Given the description of an element on the screen output the (x, y) to click on. 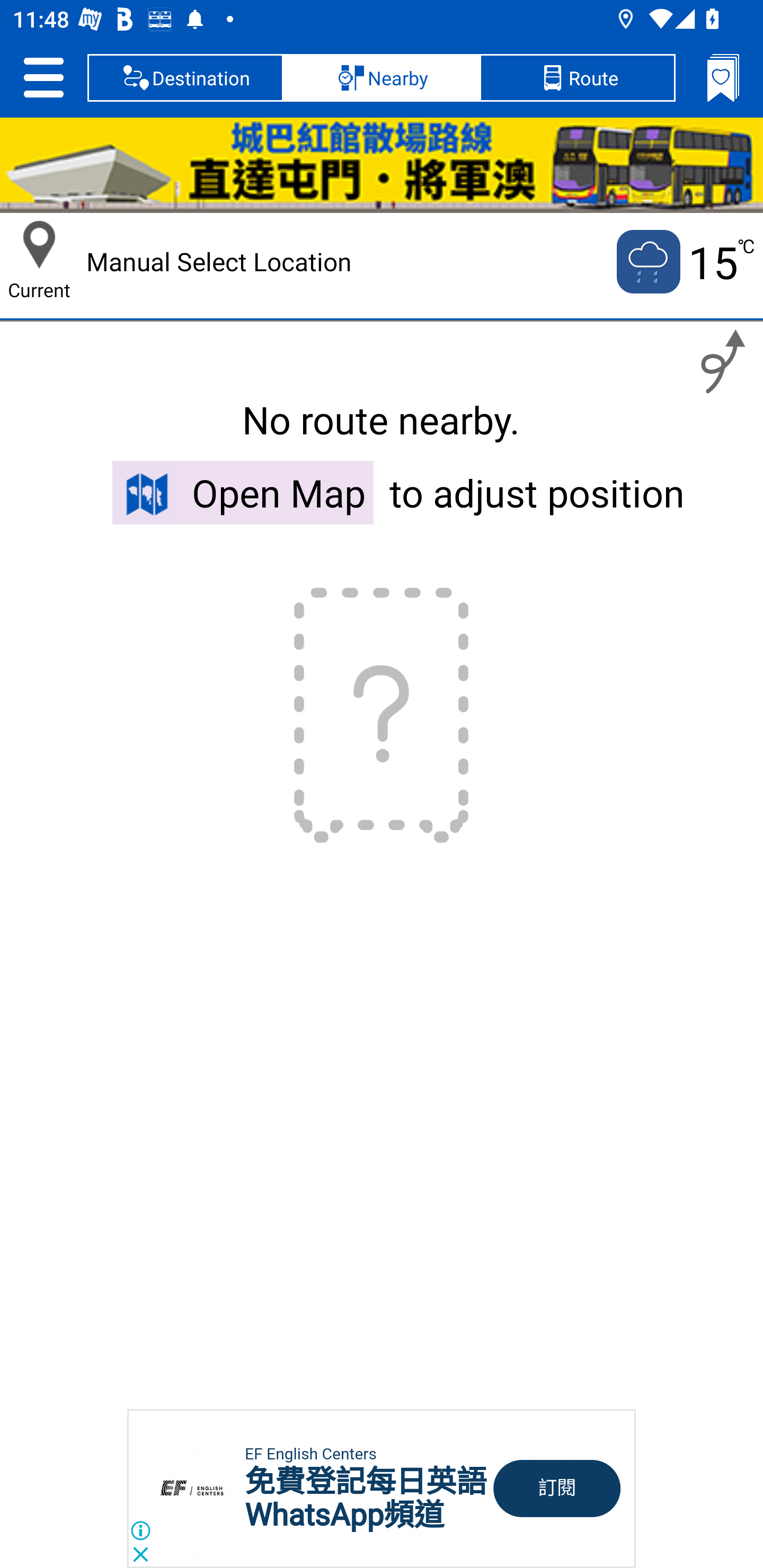
Destination (185, 77)
Nearby, selected (381, 77)
Route (577, 77)
Bookmarks (723, 77)
Setting (43, 77)
HKC (381, 165)
Current Location (38, 244)
Current temputure is  15  no 15 ℃ (684, 261)
Open Map (242, 491)
EF English Centers (310, 1454)
訂閱 (556, 1488)
免費登記每日英語 WhatsApp頻道 免費登記每日英語 WhatsApp頻道 (365, 1497)
